Given the description of an element on the screen output the (x, y) to click on. 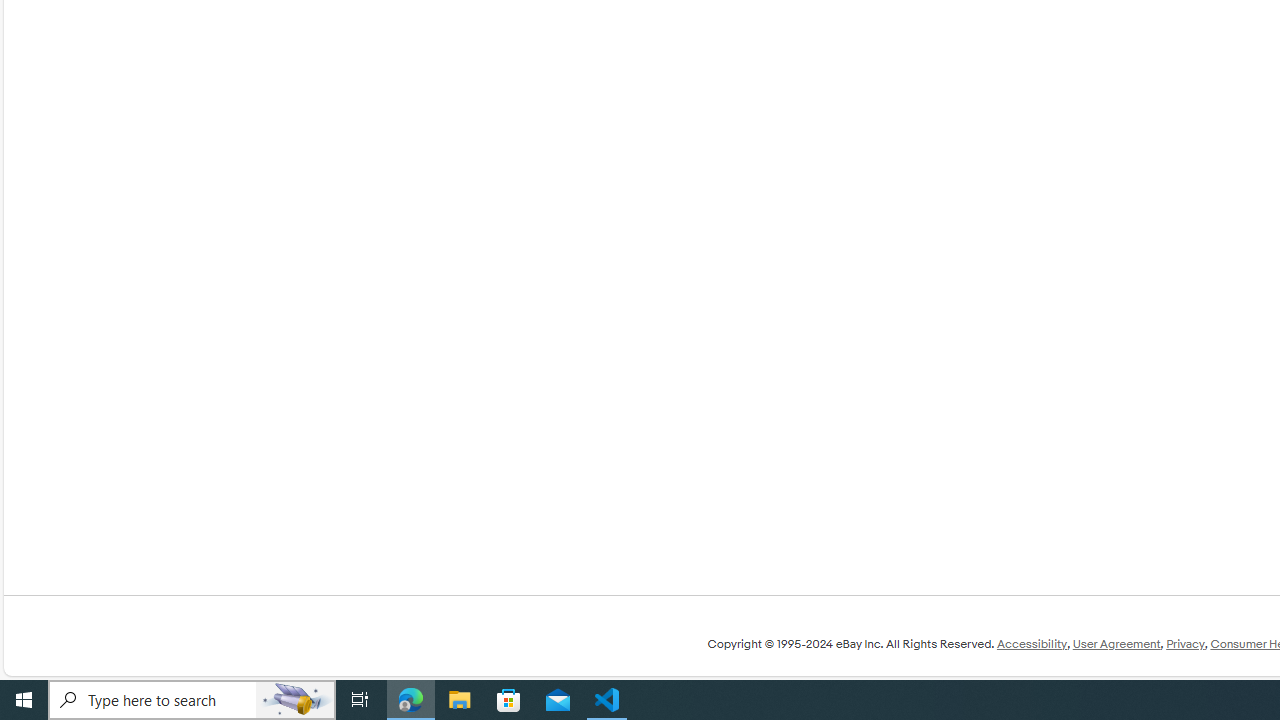
Accessibility (1031, 644)
User Agreement (1116, 644)
Privacy (1185, 644)
